Given the description of an element on the screen output the (x, y) to click on. 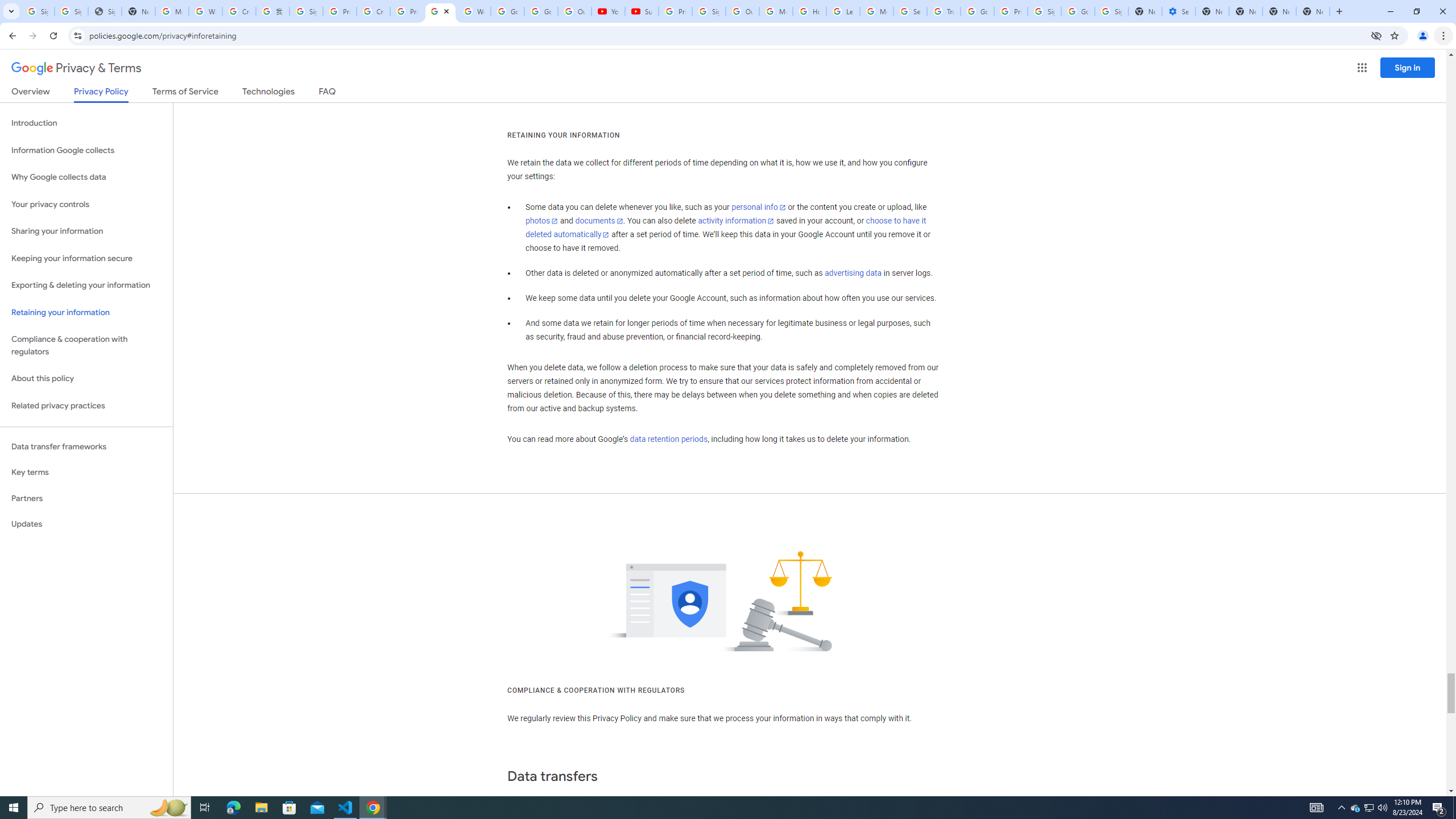
Introduction (86, 122)
Sign In - USA TODAY (104, 11)
Welcome to My Activity (474, 11)
About this policy (86, 379)
Data transfer frameworks (86, 446)
Who is my administrator? - Google Account Help (205, 11)
Google Ads - Sign in (976, 11)
documents (599, 221)
Related privacy practices (86, 405)
